Given the description of an element on the screen output the (x, y) to click on. 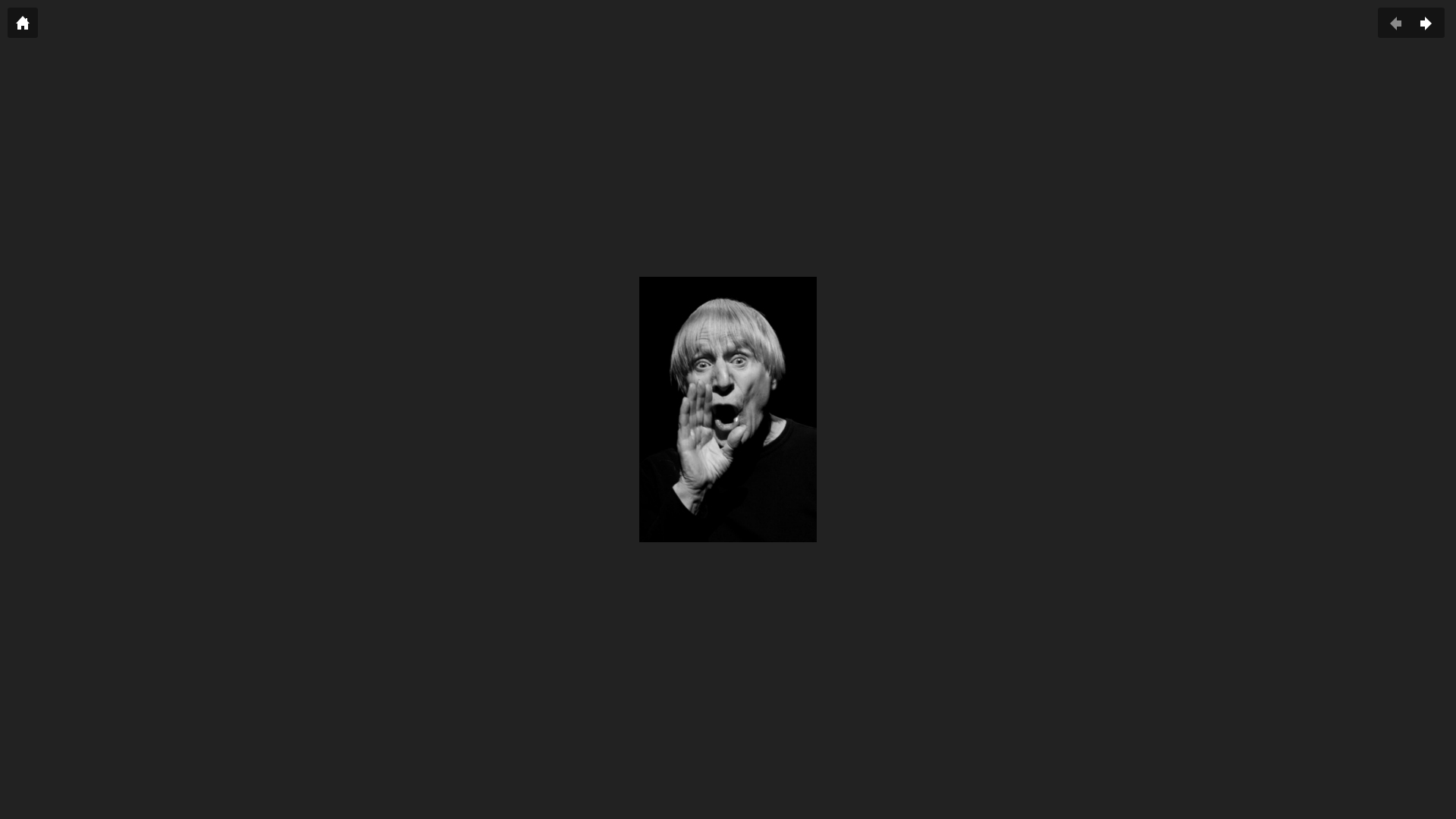
Previous Image Element type: hover (1395, 22)
Go Back Element type: hover (22, 22)
Next Image Element type: hover (1426, 22)
